Given the description of an element on the screen output the (x, y) to click on. 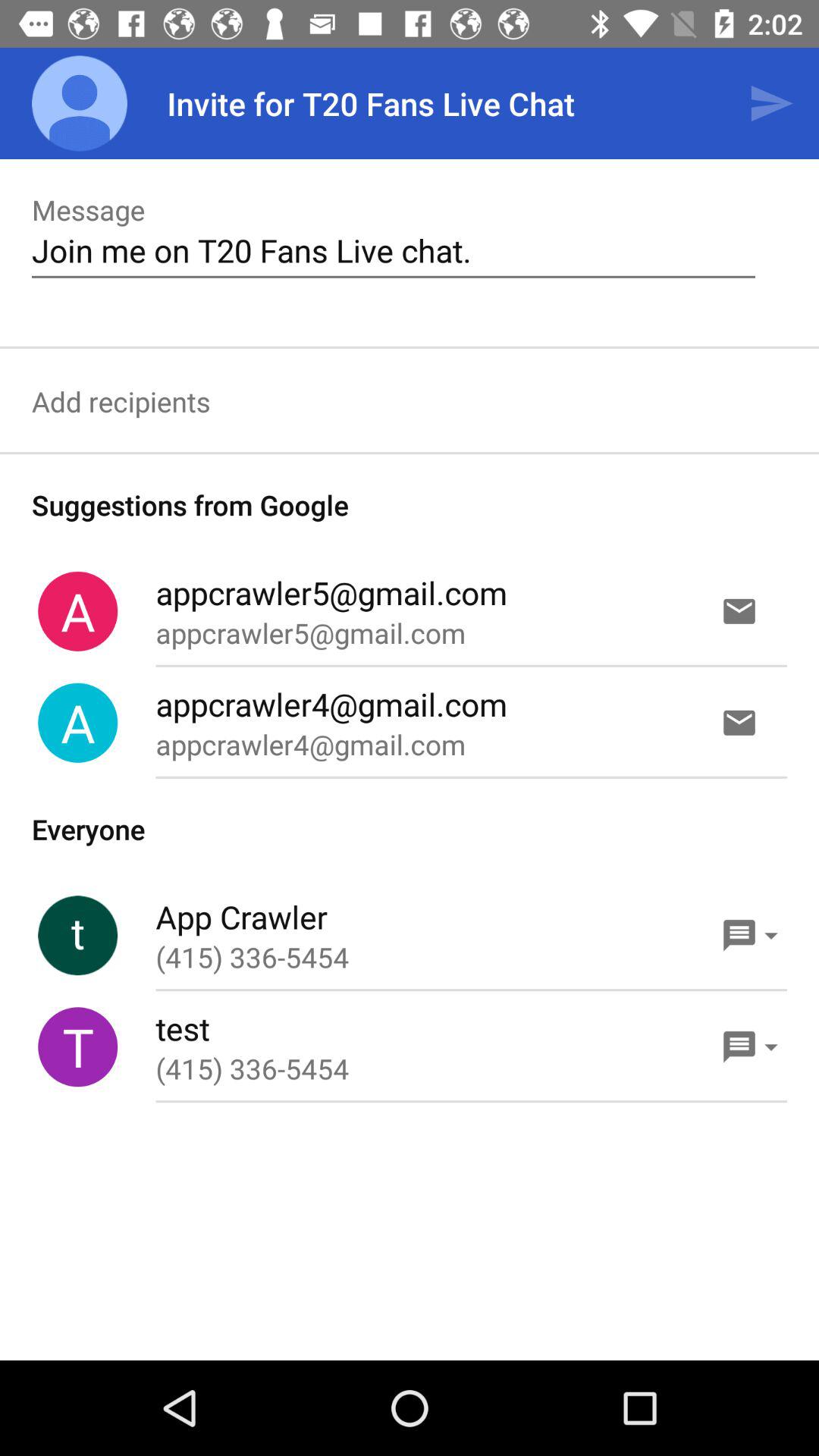
turn off the item above message (79, 103)
